Given the description of an element on the screen output the (x, y) to click on. 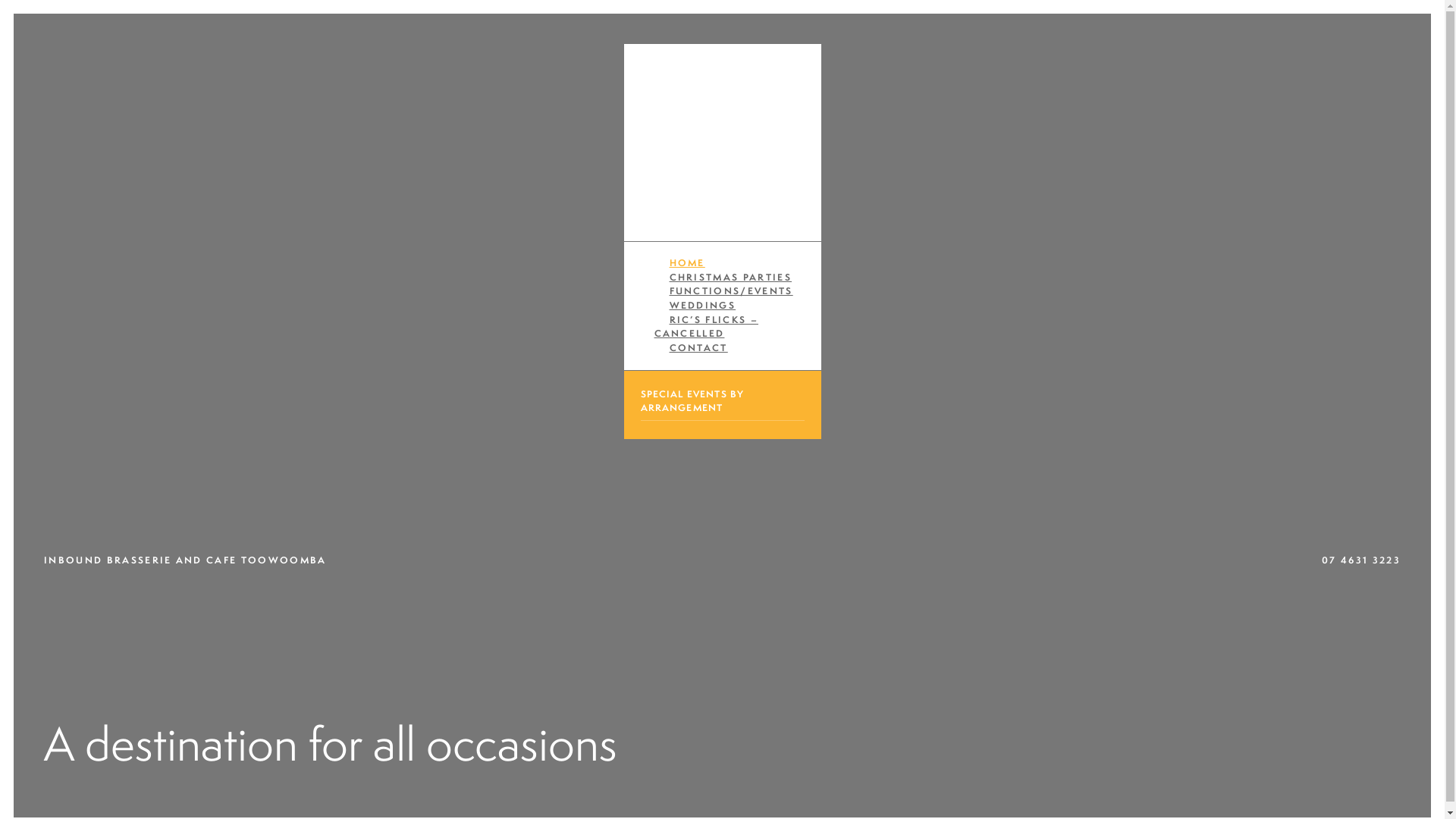
HOME Element type: text (686, 262)
WEDDINGS Element type: text (701, 305)
CONTACT Element type: text (697, 347)
07 4631 3223 Element type: text (1360, 559)
CHRISTMAS PARTIES Element type: text (729, 277)
FUNCTIONS/EVENTS Element type: text (730, 290)
